Given the description of an element on the screen output the (x, y) to click on. 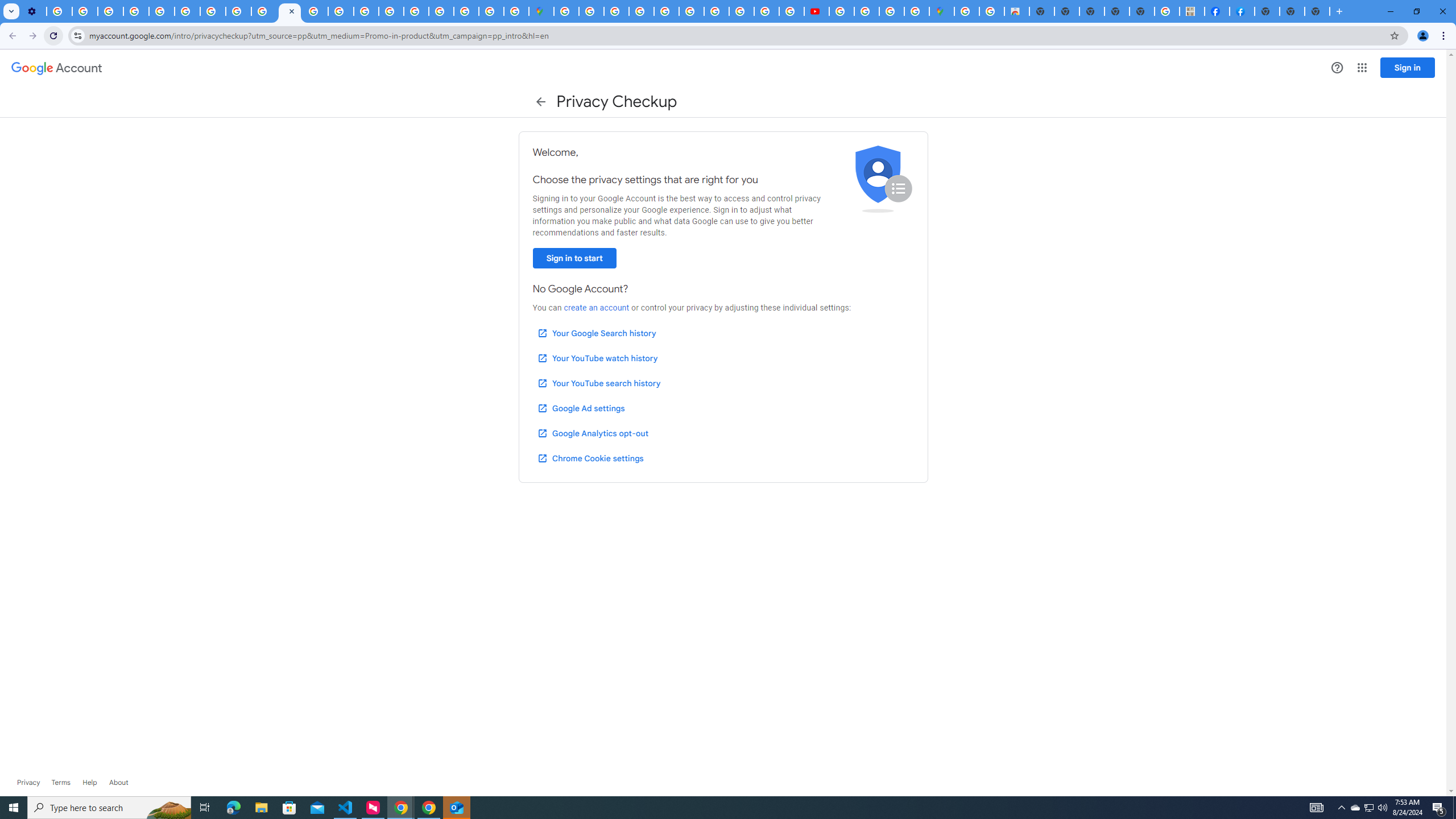
Learn how to find your photos - Google Photos Help (84, 11)
Google Maps (941, 11)
